Given the description of an element on the screen output the (x, y) to click on. 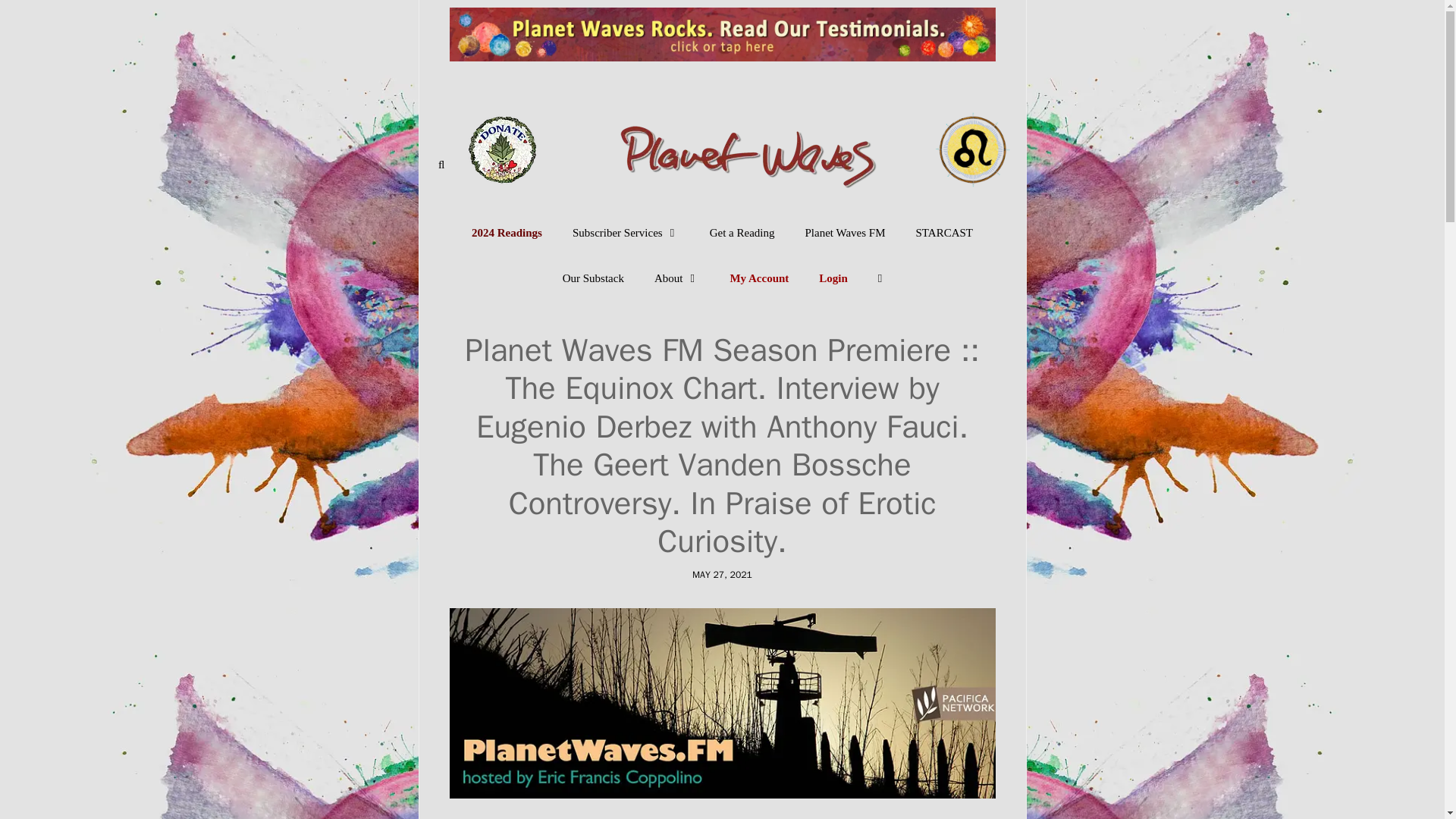
Astrology from Planet Waves by Eric Francis (721, 129)
Astrology from Planet Waves by Eric Francis (721, 130)
Planet Waves FM (844, 232)
About (676, 278)
Login (833, 278)
About (676, 278)
STARCAST (944, 232)
Our Substack (593, 278)
2024 Readings (507, 232)
Get a Reading (742, 232)
